Given the description of an element on the screen output the (x, y) to click on. 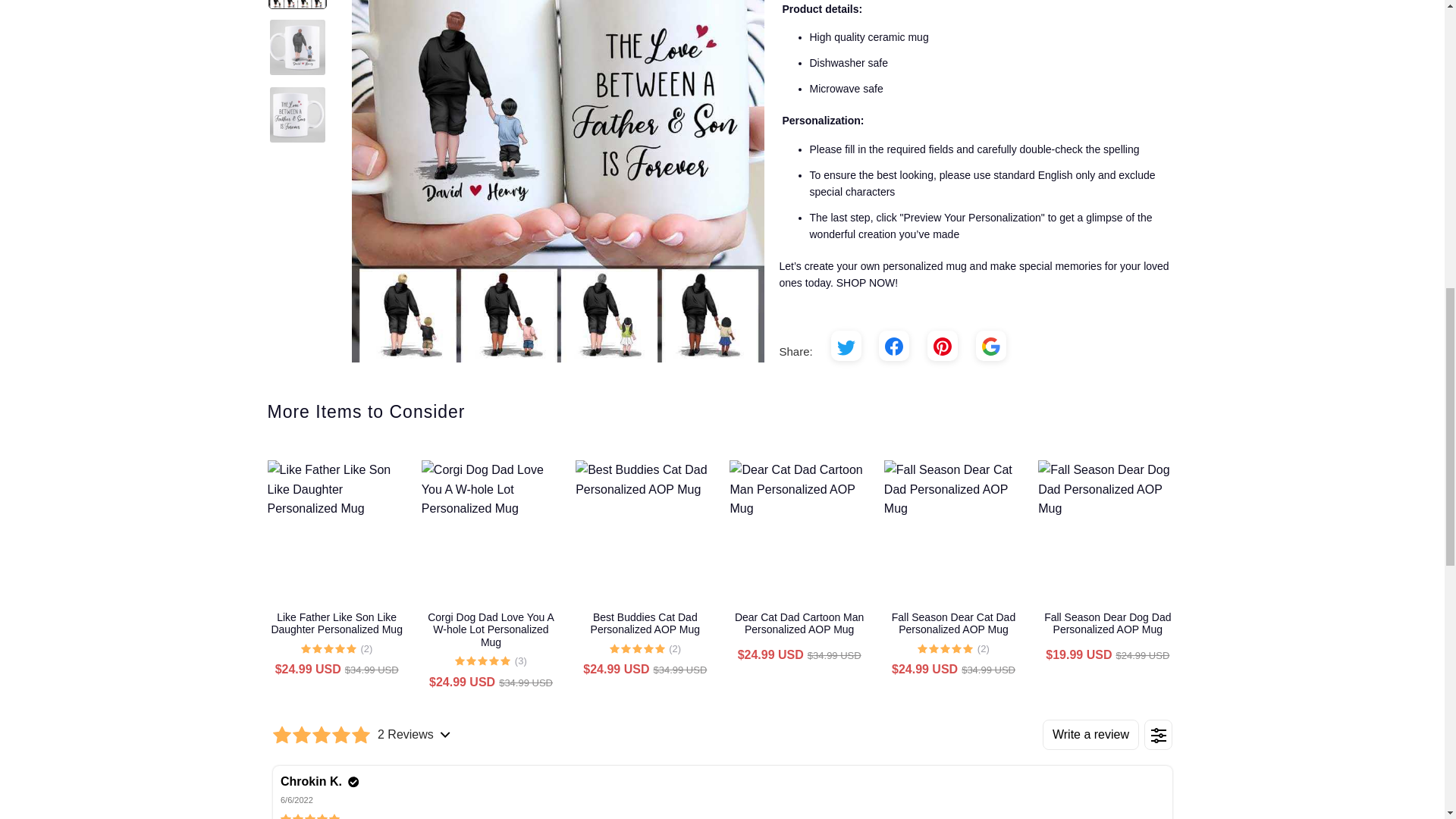
Share this on Twitter (846, 345)
Email this to a friend (990, 345)
Share this on Pinterest (942, 345)
Share this on Facebook (893, 345)
